Given the description of an element on the screen output the (x, y) to click on. 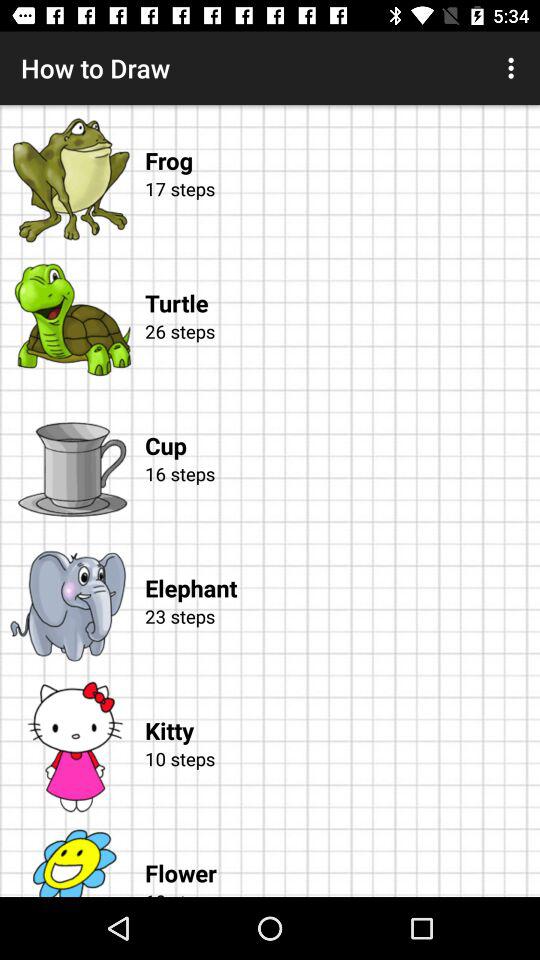
turn off frog item (342, 140)
